Given the description of an element on the screen output the (x, y) to click on. 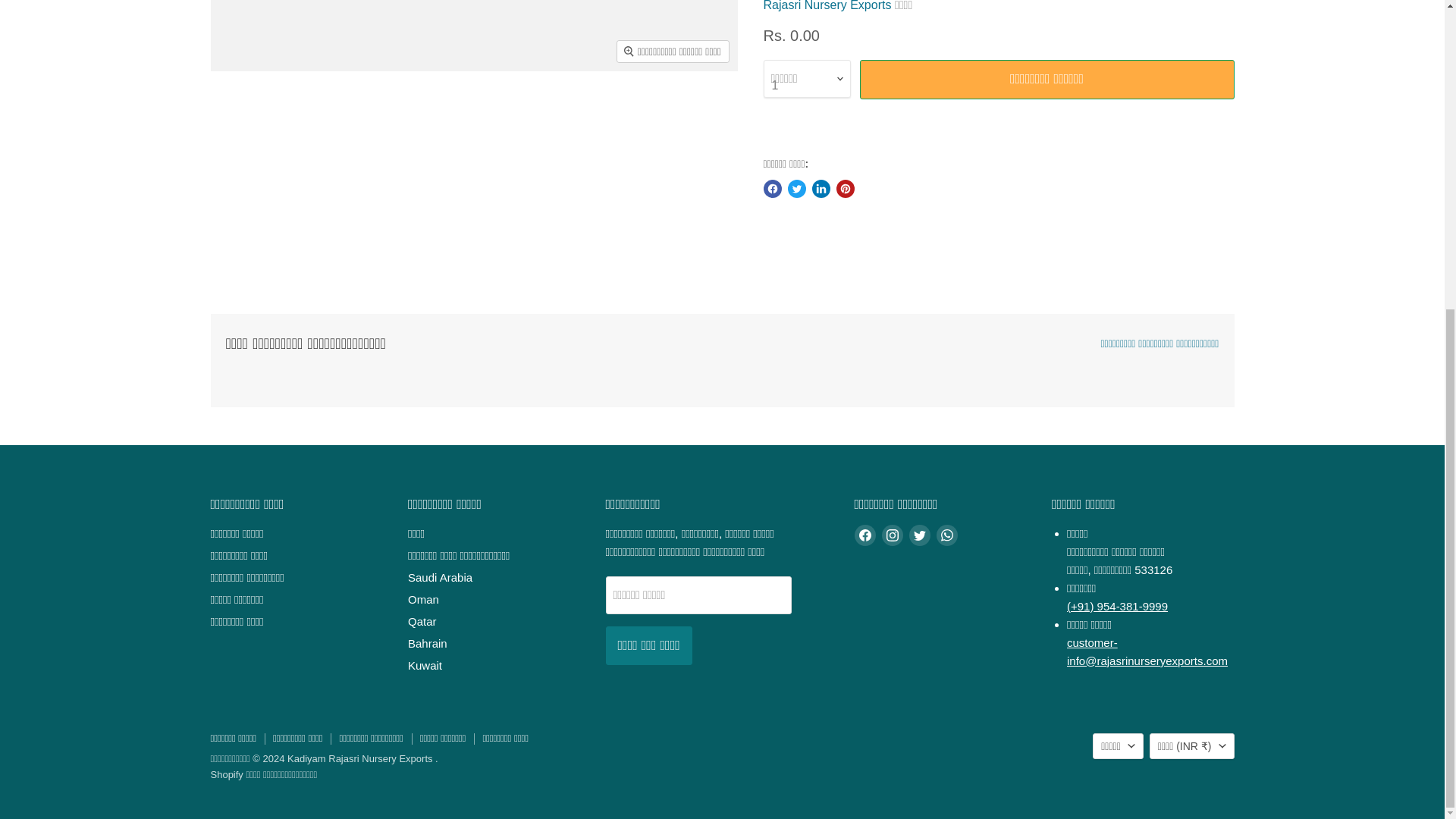
Rajasri Nursery Exports (826, 5)
WhatsApp (946, 535)
Facebook (864, 535)
Instagram (891, 535)
Twitter (919, 535)
